Given the description of an element on the screen output the (x, y) to click on. 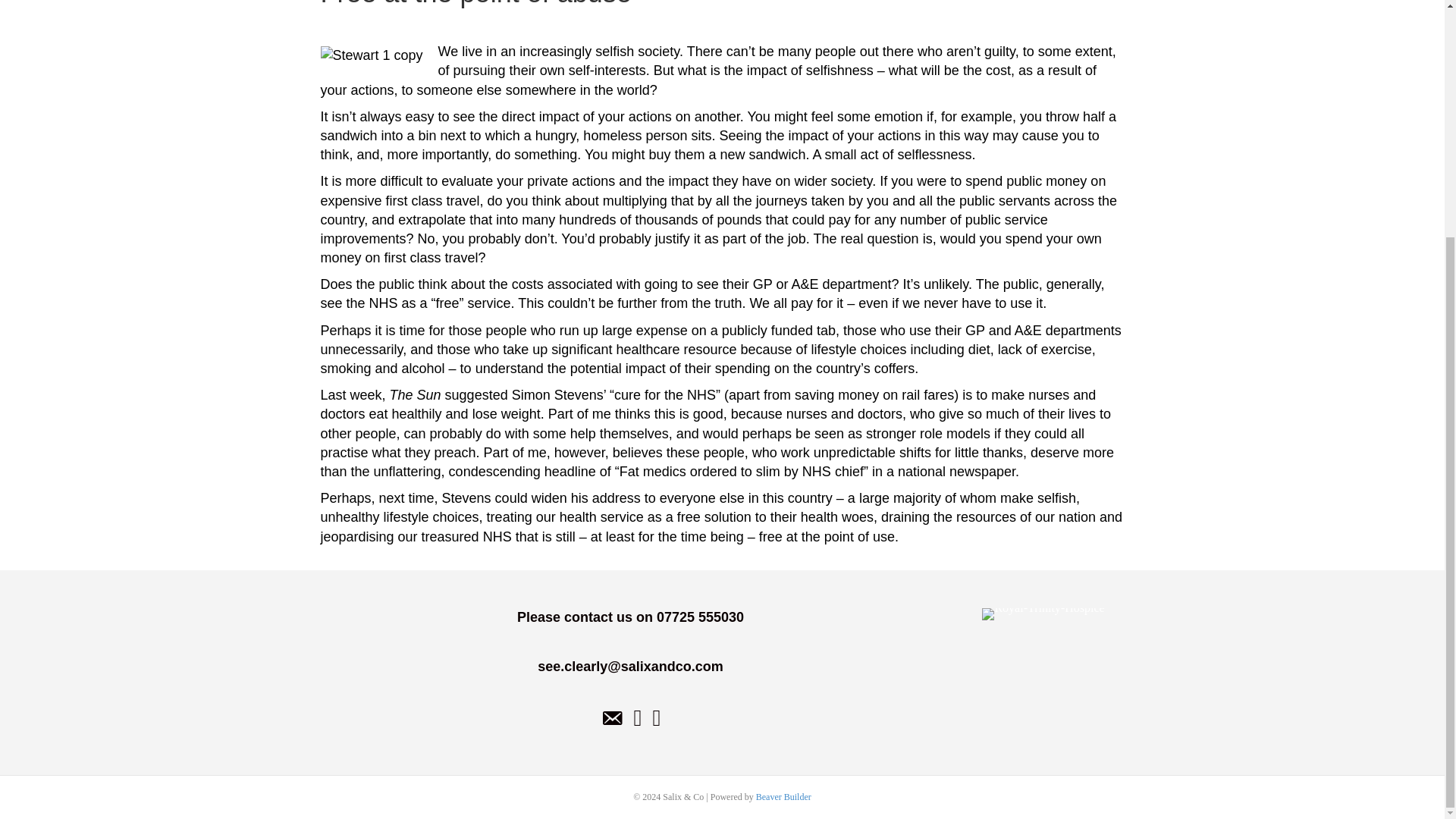
Royal-Trinity-Hospice (1042, 613)
Please contact us on 07725 555030 (630, 616)
WordPress Page Builder Plugin (782, 796)
Beaver Builder (782, 796)
Please contact us on 07725 555030 (630, 616)
